Given the description of an element on the screen output the (x, y) to click on. 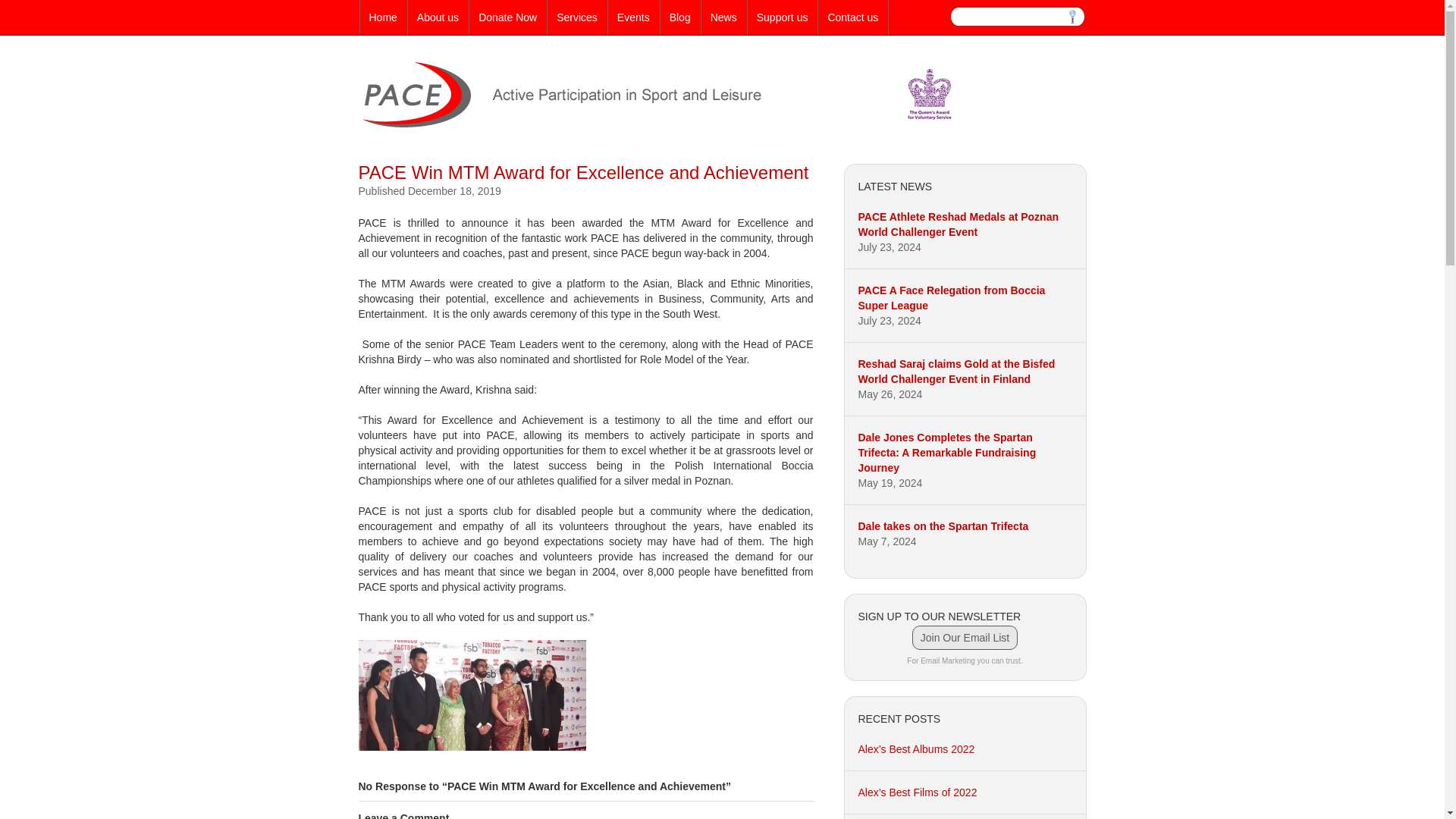
News (723, 17)
Dale takes on the Spartan Trifecta (944, 526)
Services (577, 17)
Join Our Email List (964, 637)
Contact us (852, 17)
Donate Now (507, 17)
About us (437, 17)
PACE Charitable Trust (660, 123)
Blog (680, 17)
Support us (782, 17)
PACE A Face Relegation from Boccia Super League (952, 298)
Home (382, 17)
Events (633, 17)
PACE Athlete Reshad Medals at Poznan World Challenger Event (959, 224)
